Given the description of an element on the screen output the (x, y) to click on. 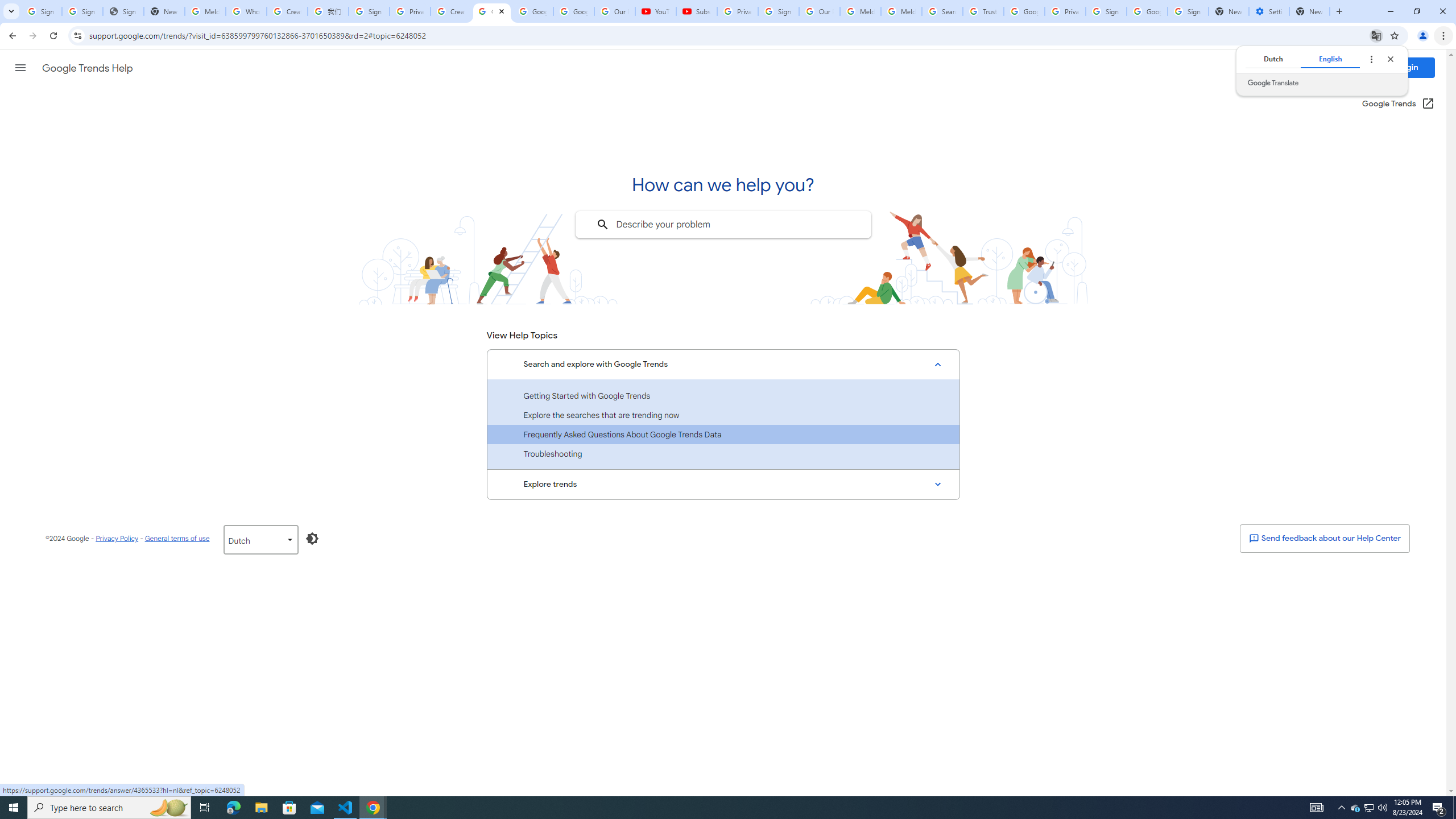
Settings - Addresses and more (1268, 11)
Subscriptions - YouTube (696, 11)
Sign in - Google Accounts (81, 11)
Send feedback about our Help Center (1324, 538)
